Given the description of an element on the screen output the (x, y) to click on. 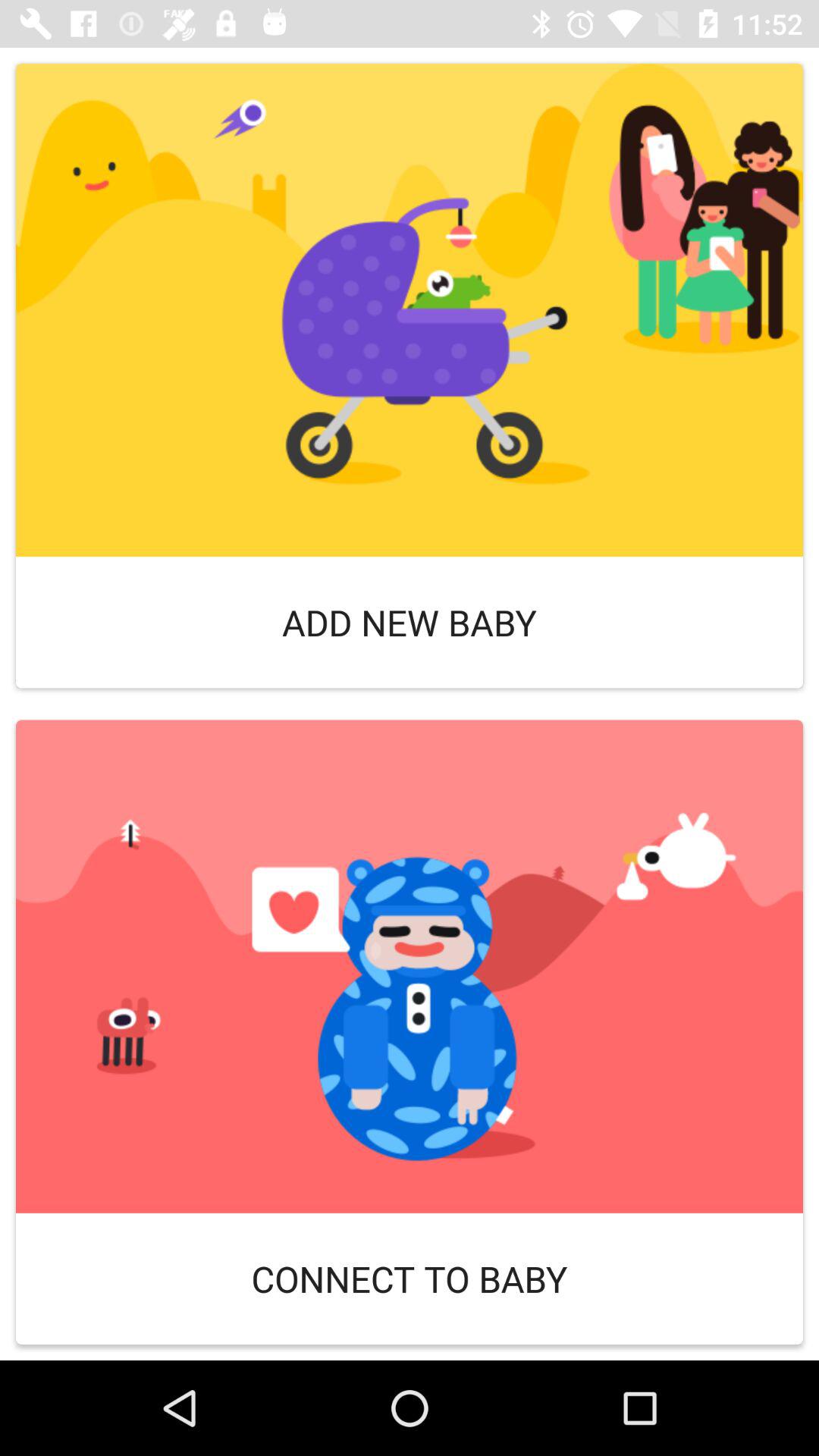
tap the connect to baby item (409, 1278)
